Given the description of an element on the screen output the (x, y) to click on. 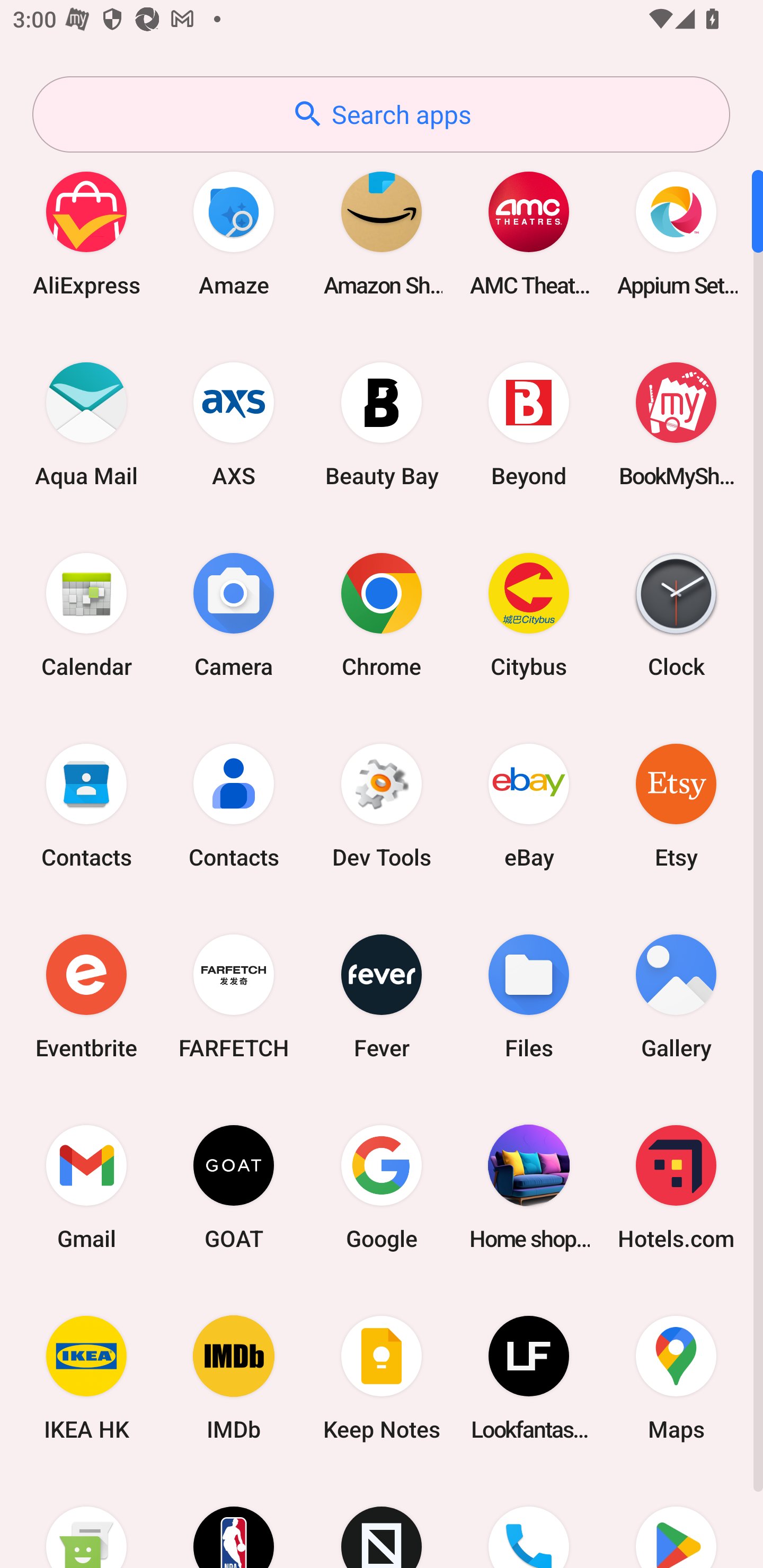
  Search apps (381, 114)
AliExpress (86, 233)
Amaze (233, 233)
Amazon Shopping (381, 233)
AMC Theatres (528, 233)
Appium Settings (676, 233)
Aqua Mail (86, 424)
AXS (233, 424)
Beauty Bay (381, 424)
Beyond (528, 424)
BookMyShow (676, 424)
Calendar (86, 614)
Camera (233, 614)
Chrome (381, 614)
Citybus (528, 614)
Clock (676, 614)
Contacts (86, 805)
Contacts (233, 805)
Dev Tools (381, 805)
eBay (528, 805)
Etsy (676, 805)
Eventbrite (86, 996)
FARFETCH (233, 996)
Fever (381, 996)
Files (528, 996)
Gallery (676, 996)
Gmail (86, 1186)
GOAT (233, 1186)
Google (381, 1186)
Home shopping (528, 1186)
Hotels.com (676, 1186)
IKEA HK (86, 1377)
IMDb (233, 1377)
Keep Notes (381, 1377)
Lookfantastic (528, 1377)
Maps (676, 1377)
Messaging (86, 1520)
NBA (233, 1520)
Novelship (381, 1520)
Phone (528, 1520)
Play Store (676, 1520)
